Given the description of an element on the screen output the (x, y) to click on. 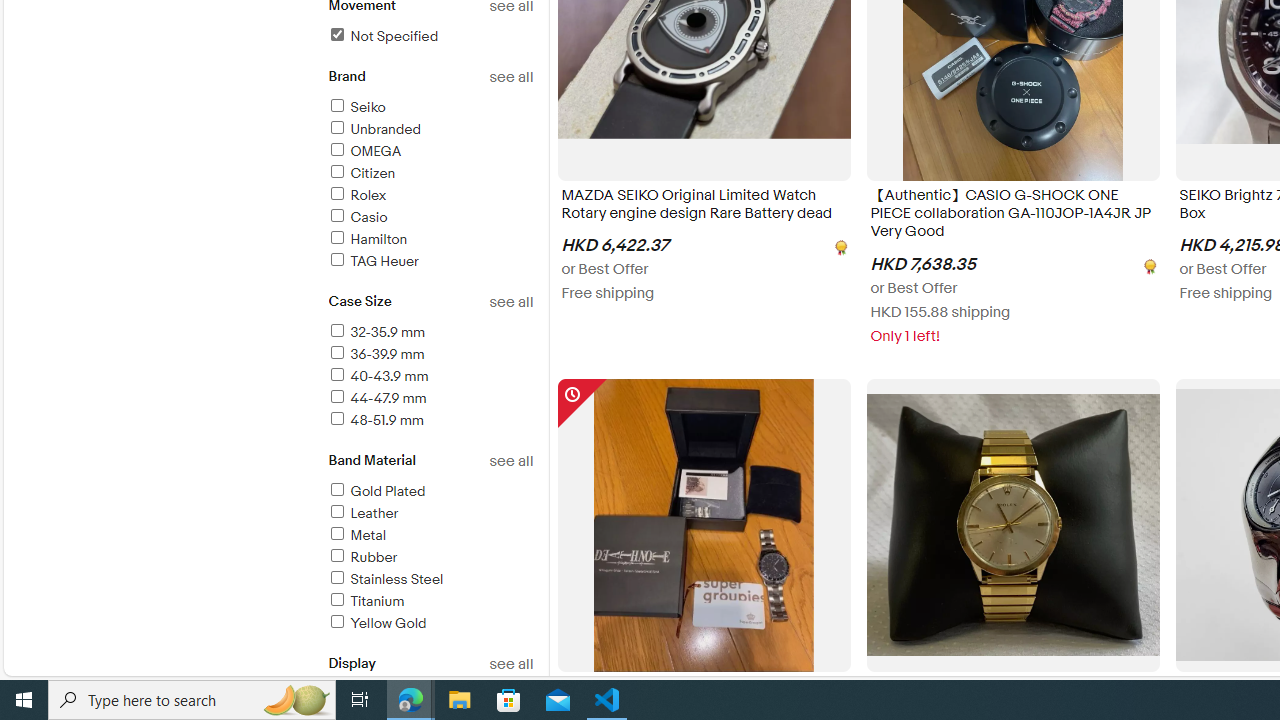
Seiko (430, 108)
44-47.9 mm (430, 399)
Metal (430, 536)
48-51.9 mm (374, 420)
Citizen (360, 173)
Hamilton (430, 240)
[object Undefined] (1147, 264)
